Given the description of an element on the screen output the (x, y) to click on. 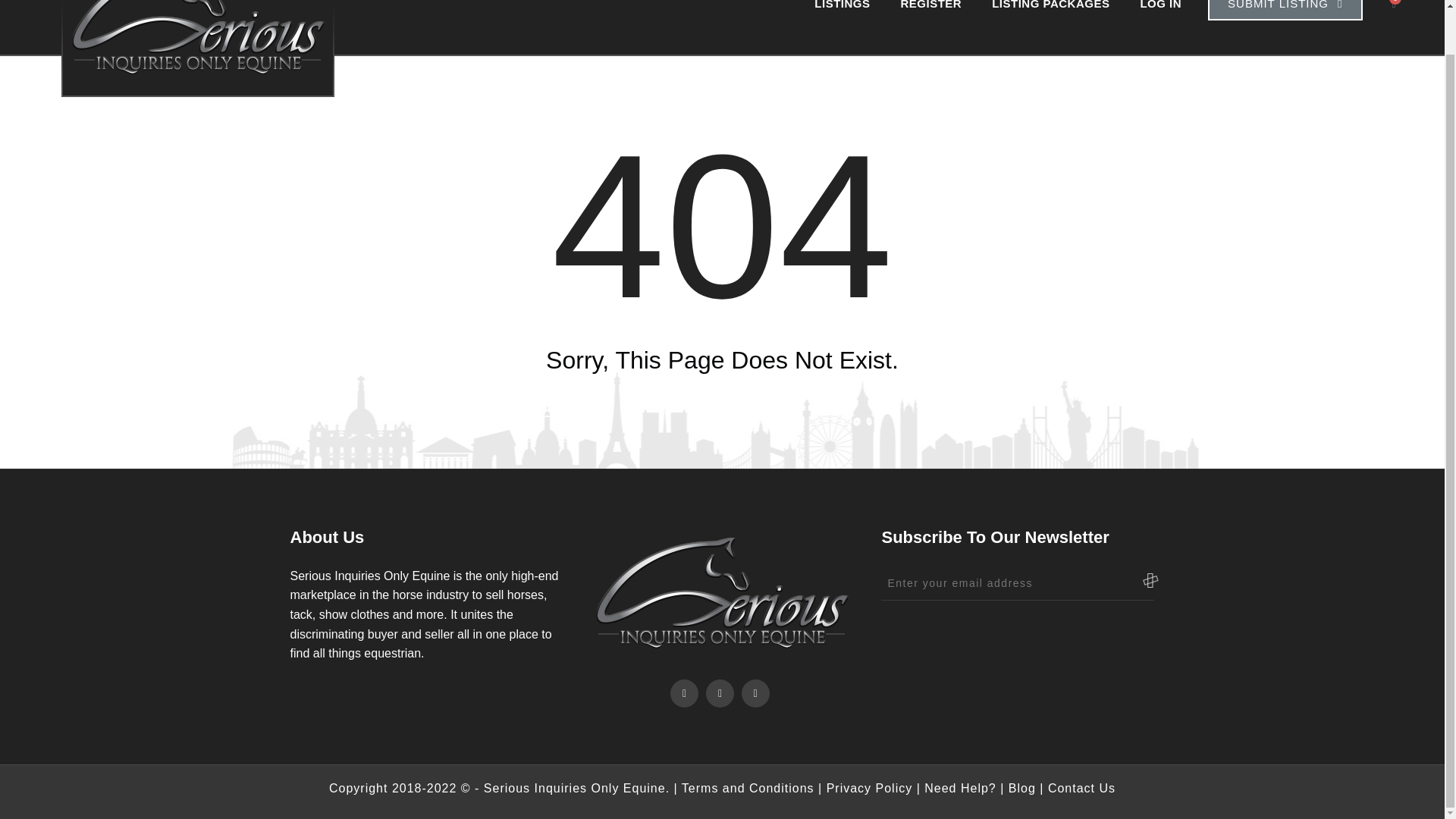
Blog (1022, 788)
REGISTER (930, 10)
LOG IN (1160, 10)
LISTING PACKAGES (1050, 10)
Terms and Conditions (747, 788)
Privacy Policy (869, 788)
SUBMIT LISTING (1284, 10)
0 (1393, 9)
Need Help? (959, 788)
LISTINGS (842, 10)
Contact Us (1081, 788)
